Given the description of an element on the screen output the (x, y) to click on. 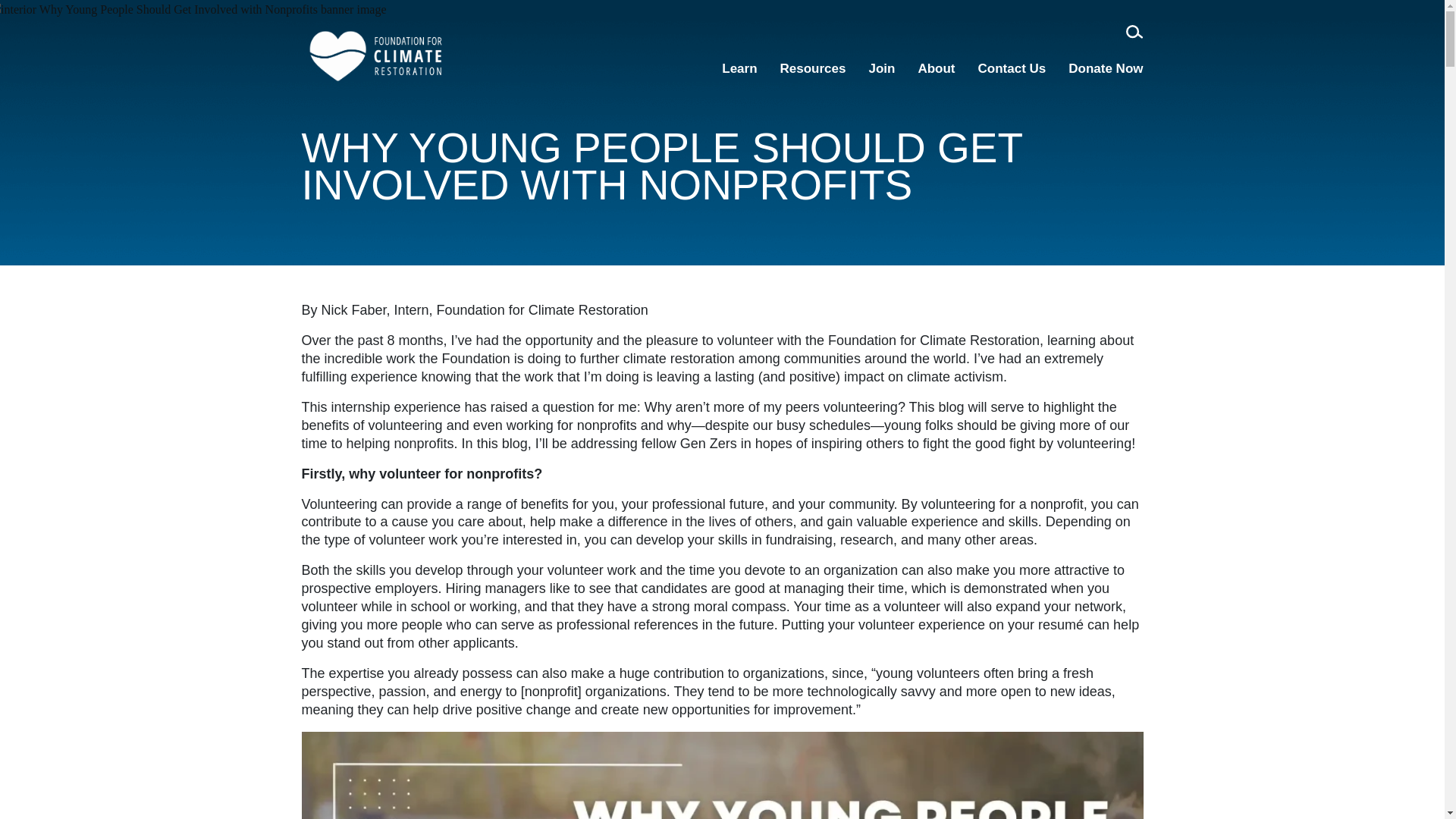
Contact Us (1012, 71)
Resources (812, 71)
Donate Now (1105, 71)
Skip to main content (24, 16)
Contact Us (1012, 71)
Resources (812, 71)
Donate Now (1105, 71)
